Given the description of an element on the screen output the (x, y) to click on. 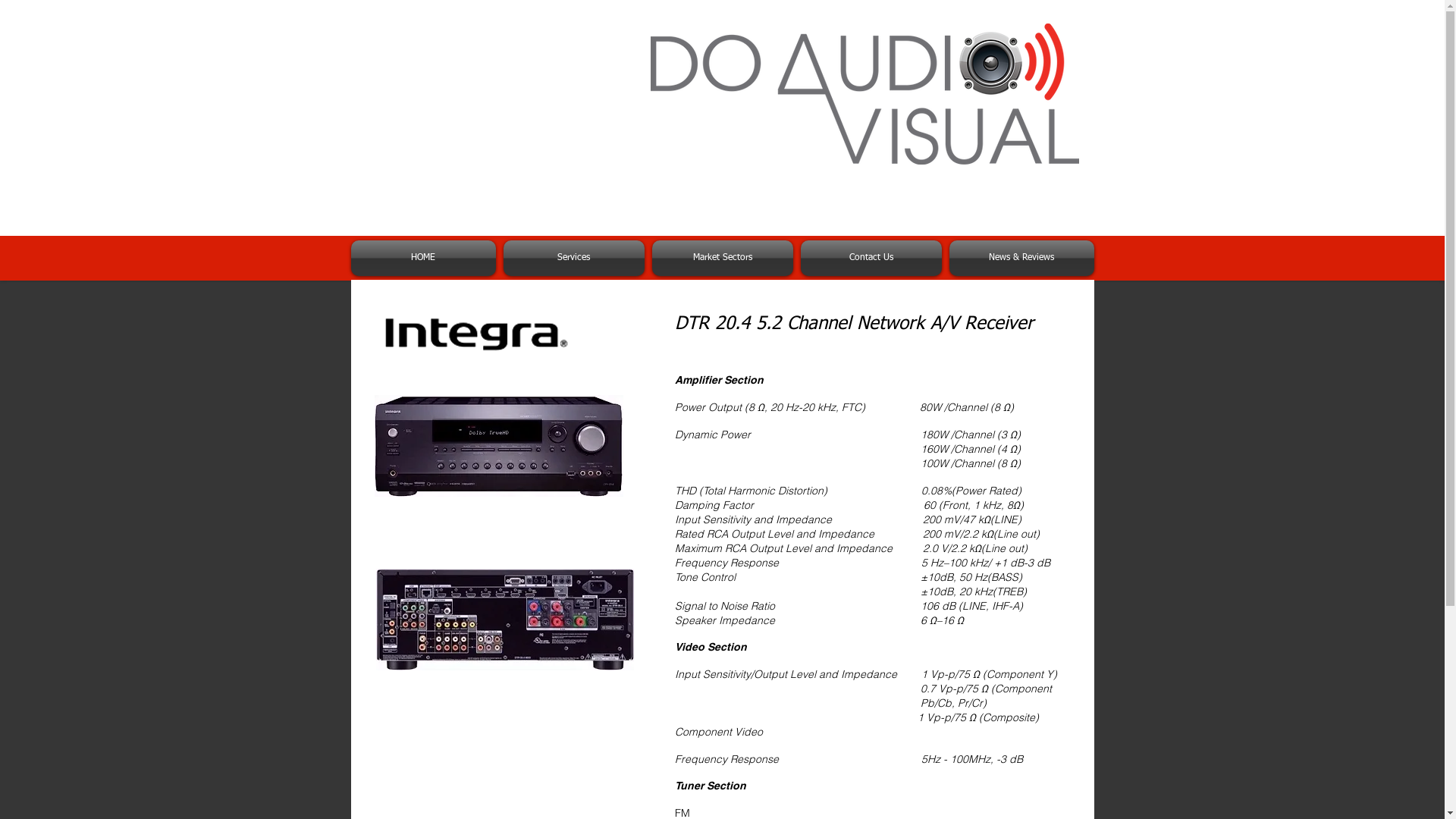
integra_logo.png Element type: hover (475, 333)
HOME Element type: text (424, 258)
DO Audio logo-1.png Element type: hover (864, 93)
Market Sectors Element type: text (721, 258)
Integra DTR20.4 Rear Element type: hover (504, 618)
Contact Us Element type: text (870, 258)
Intgra DTR 20.4 Front  Element type: hover (498, 445)
Services Element type: text (572, 258)
News & Reviews Element type: text (1018, 258)
